Given the description of an element on the screen output the (x, y) to click on. 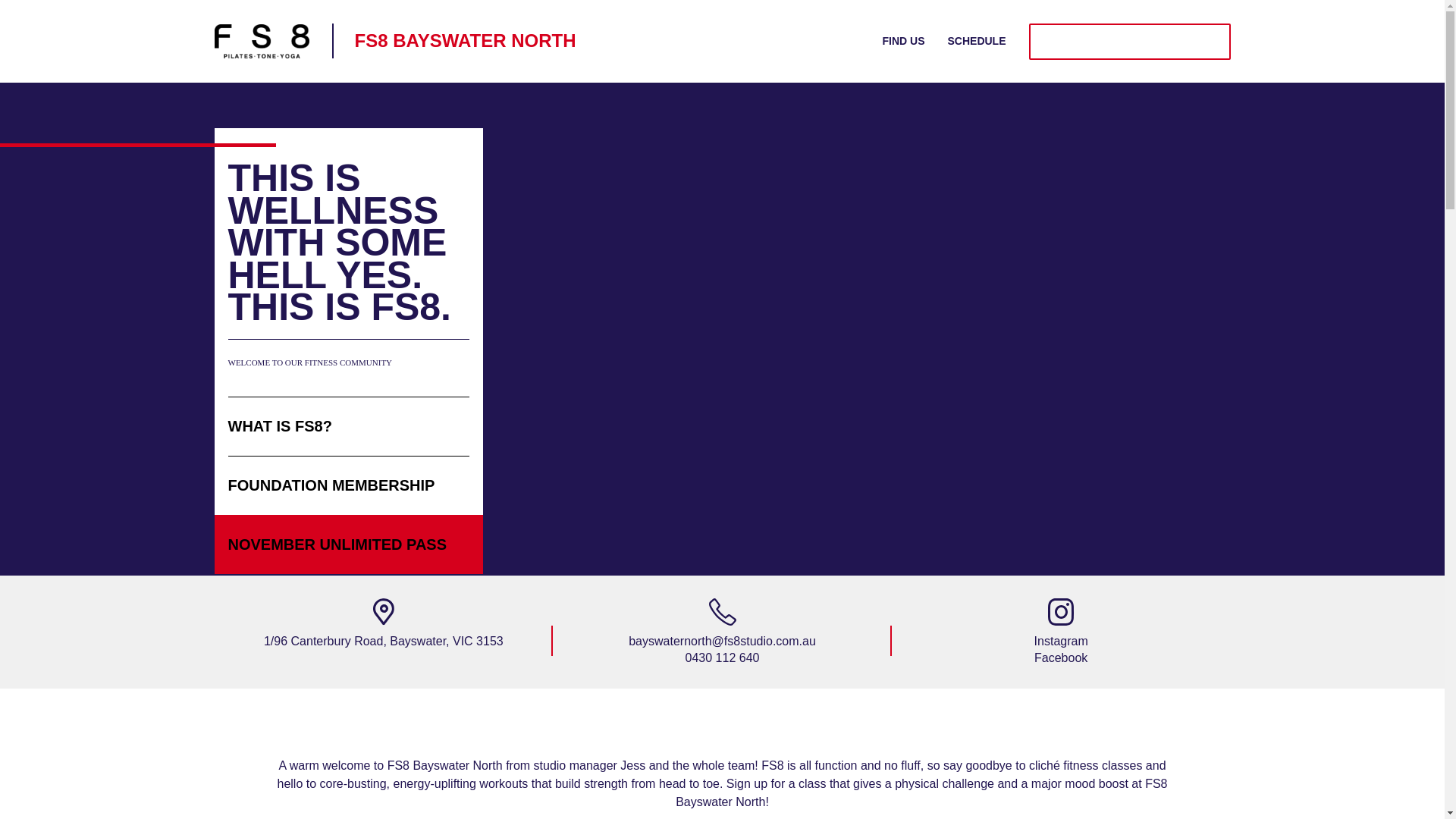
WHAT IS FS8? (347, 425)
Facebook (1060, 658)
NOVEMBER UNLIMITED PASS (1129, 40)
FIND US (903, 40)
SCHEDULE (976, 40)
NOVEMBER UNLIMITED PASS (347, 543)
FOUNDATION MEMBERSHIP (347, 484)
Instagram (1060, 641)
FS8 (261, 41)
0430 112 640 (722, 658)
